Given the description of an element on the screen output the (x, y) to click on. 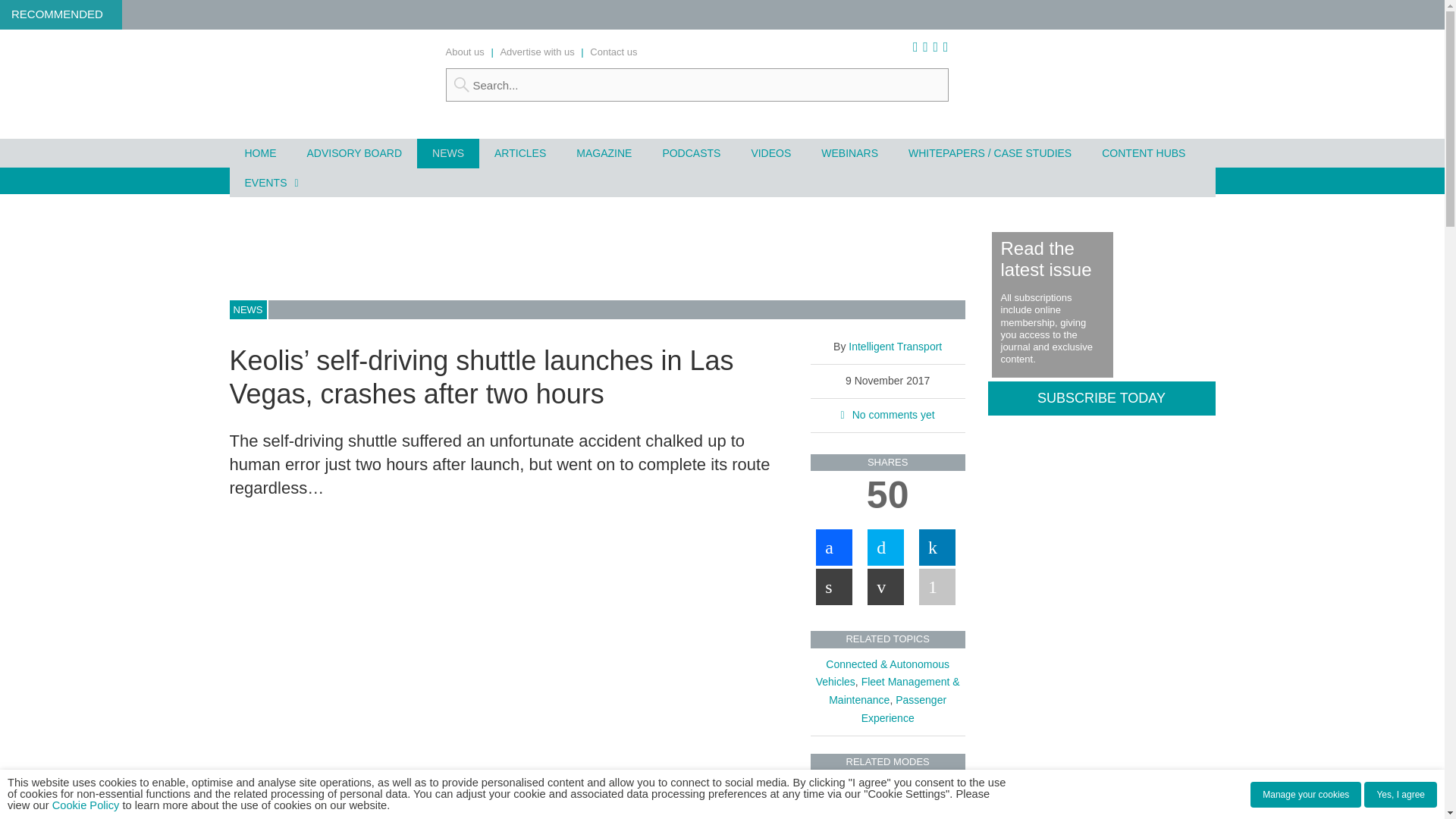
NEWS (447, 152)
close (440, 813)
PODCASTS (690, 152)
CONTENT HUBS (1142, 152)
About us (464, 51)
MAGAZINE (603, 152)
Contact us (613, 51)
ARTICLES (519, 152)
WEBINARS (849, 152)
Advertise with us (536, 51)
ADVISORY BOARD (353, 152)
VIDEOS (770, 152)
HOME (259, 152)
